Given the description of an element on the screen output the (x, y) to click on. 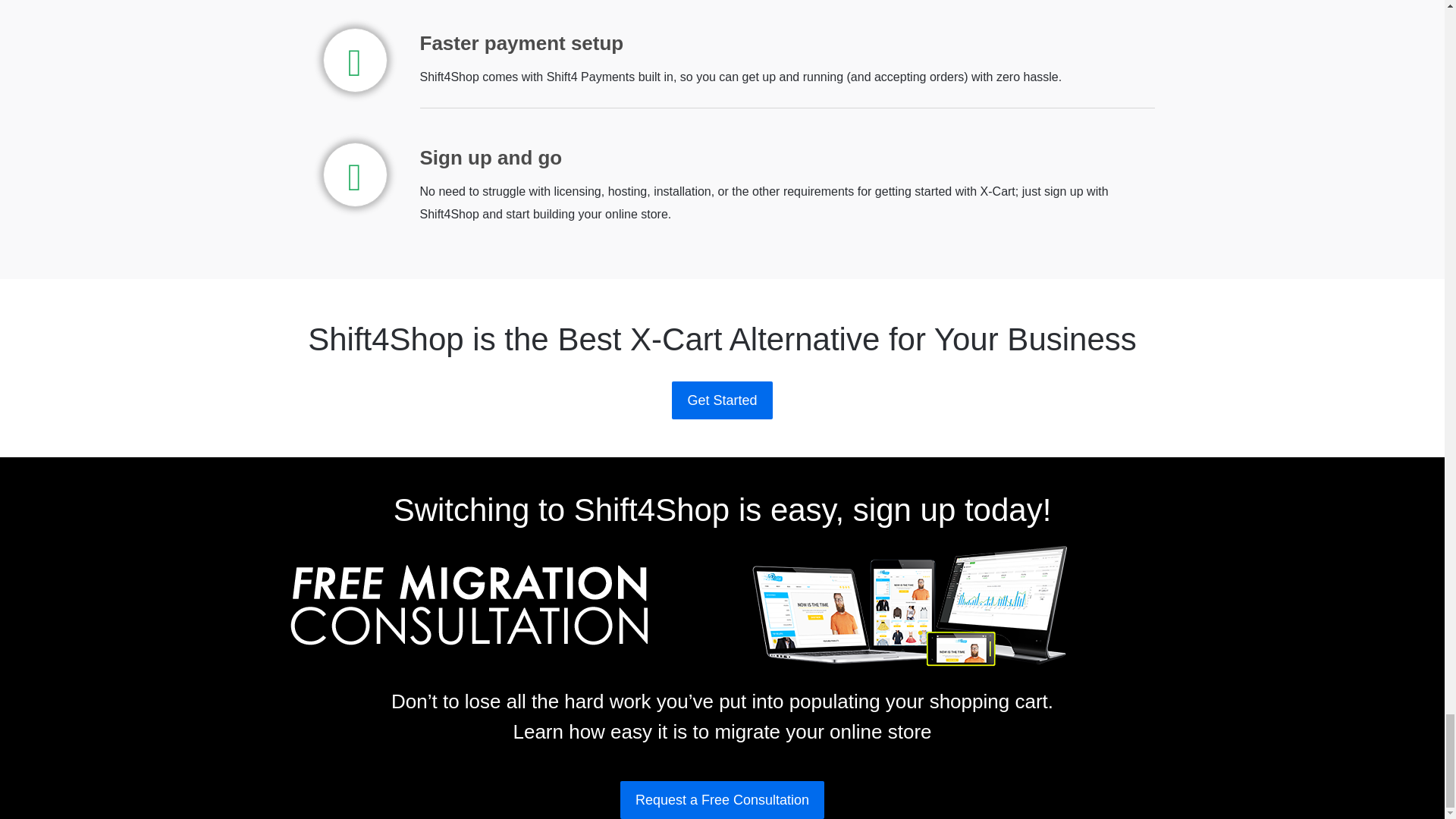
Get Started (721, 400)
